Given the description of an element on the screen output the (x, y) to click on. 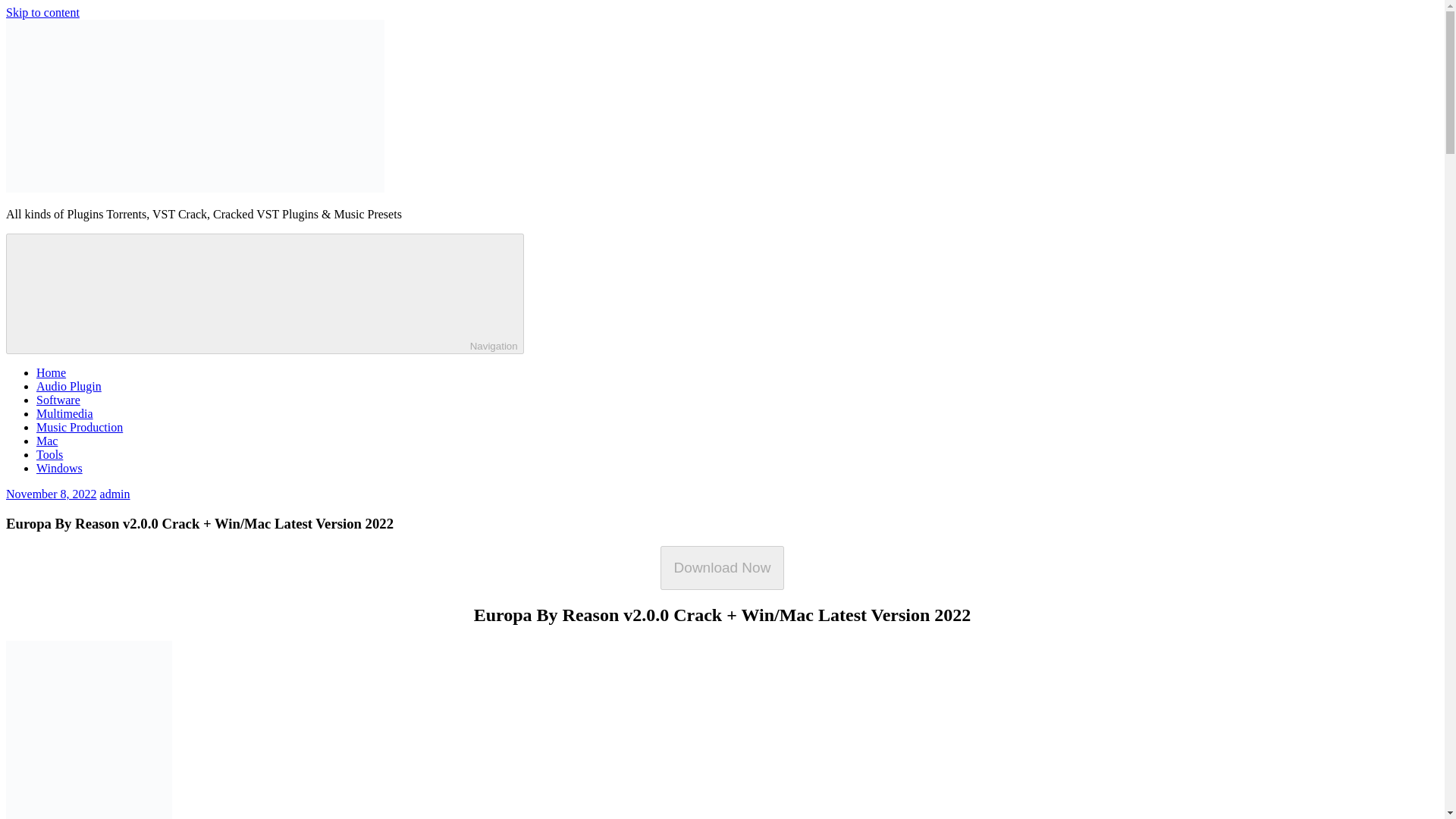
Skip to content (42, 11)
Navigation (264, 293)
admin (115, 493)
View all posts by admin (115, 493)
November 8, 2022 (51, 493)
12:00 am (51, 493)
Home (50, 372)
Download Now (722, 567)
Software (58, 399)
Windows (59, 468)
